Given the description of an element on the screen output the (x, y) to click on. 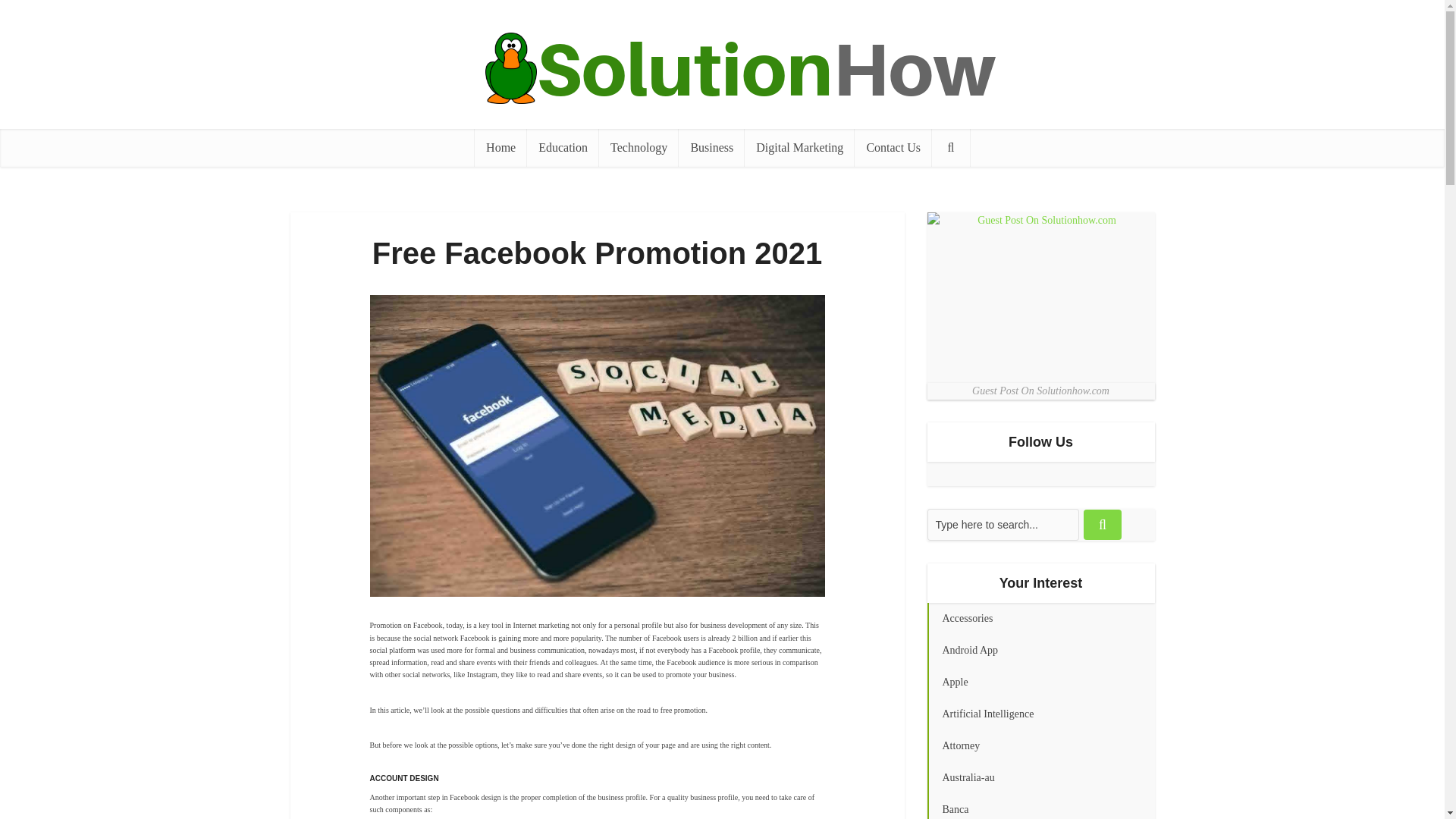
Attorney (1040, 746)
Australia-au (1040, 777)
Apple (1040, 682)
Facebook (962, 473)
Type here to search... (1002, 524)
SolutionHow (721, 68)
Technology (638, 147)
Digital Marketing (799, 147)
Education (562, 147)
Android App (1040, 650)
Type here to search... (1002, 524)
Contact Us (892, 147)
Artificial Intelligence (1040, 714)
Business (711, 147)
Twitter (938, 473)
